Given the description of an element on the screen output the (x, y) to click on. 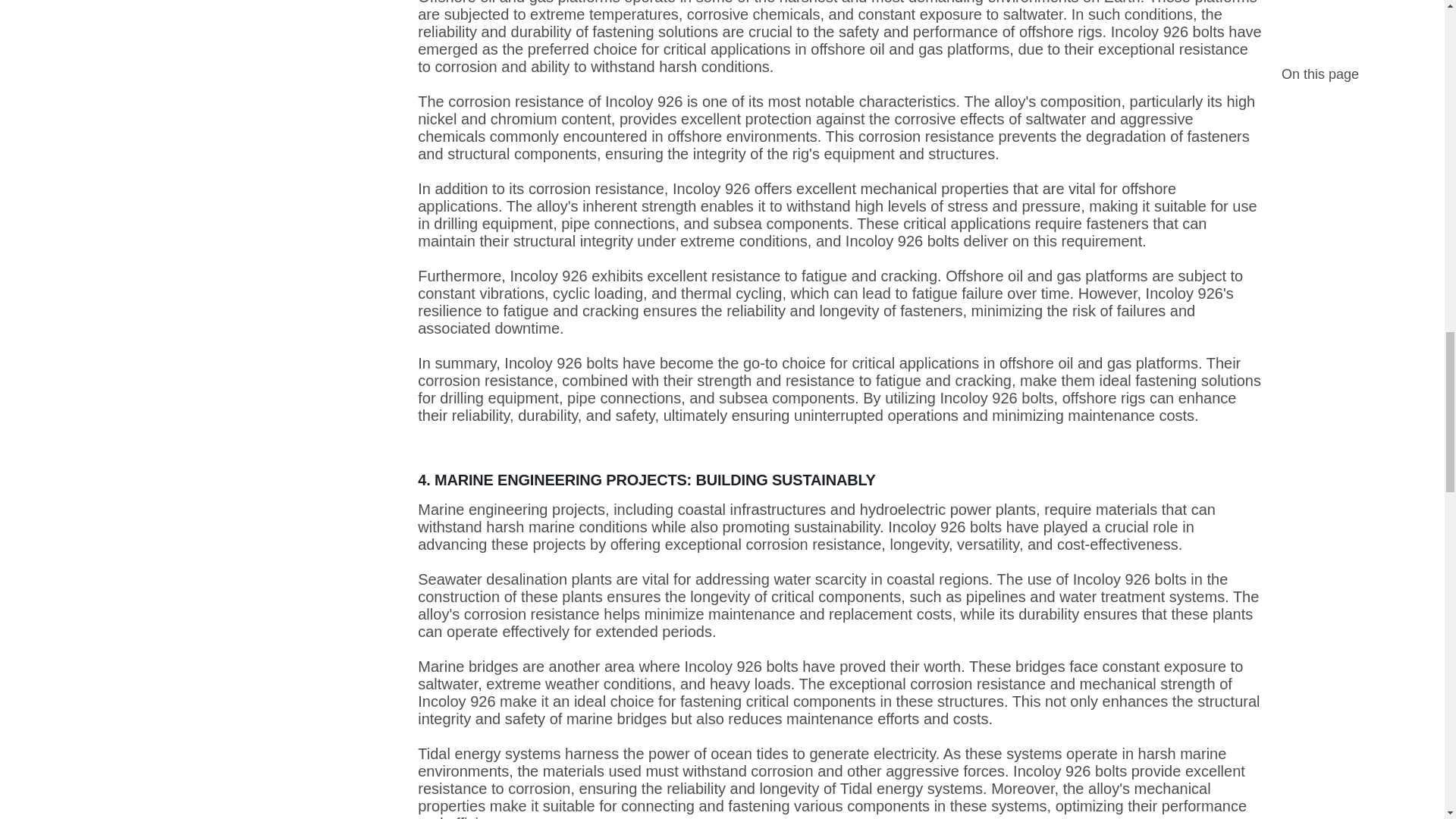
4. MARINE ENGINEERING PROJECTS: BUILDING SUSTAINABLY (840, 469)
